Given the description of an element on the screen output the (x, y) to click on. 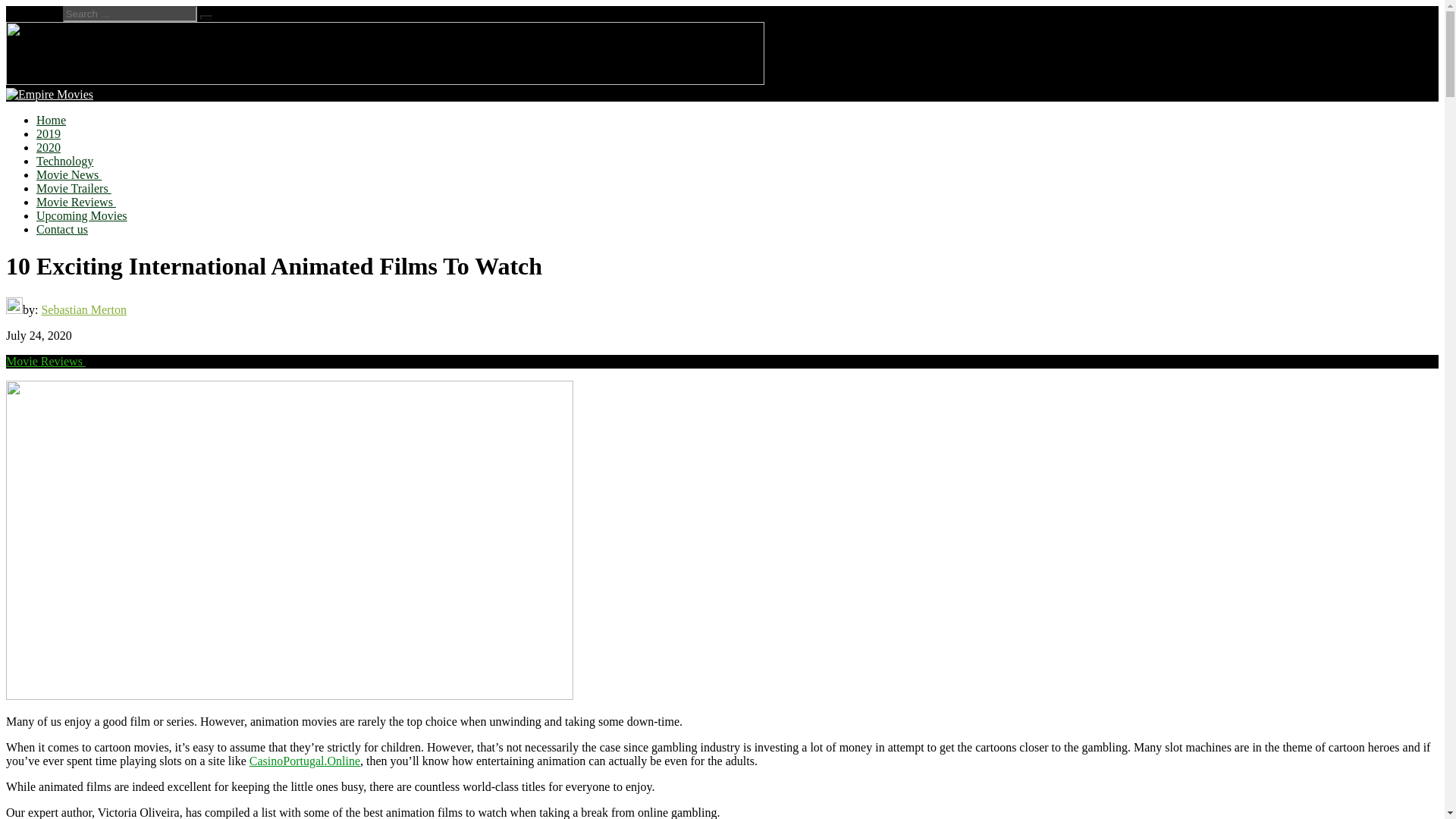
Upcoming Movies (82, 215)
Posts by Sebastian Merton (82, 309)
CasinoPortugal.Online (303, 760)
Home (50, 119)
Empire Movies (84, 130)
2020 (48, 146)
Movie Trailers  (74, 187)
2019 (48, 133)
Sebastian Merton (82, 309)
Contact us (61, 228)
